Given the description of an element on the screen output the (x, y) to click on. 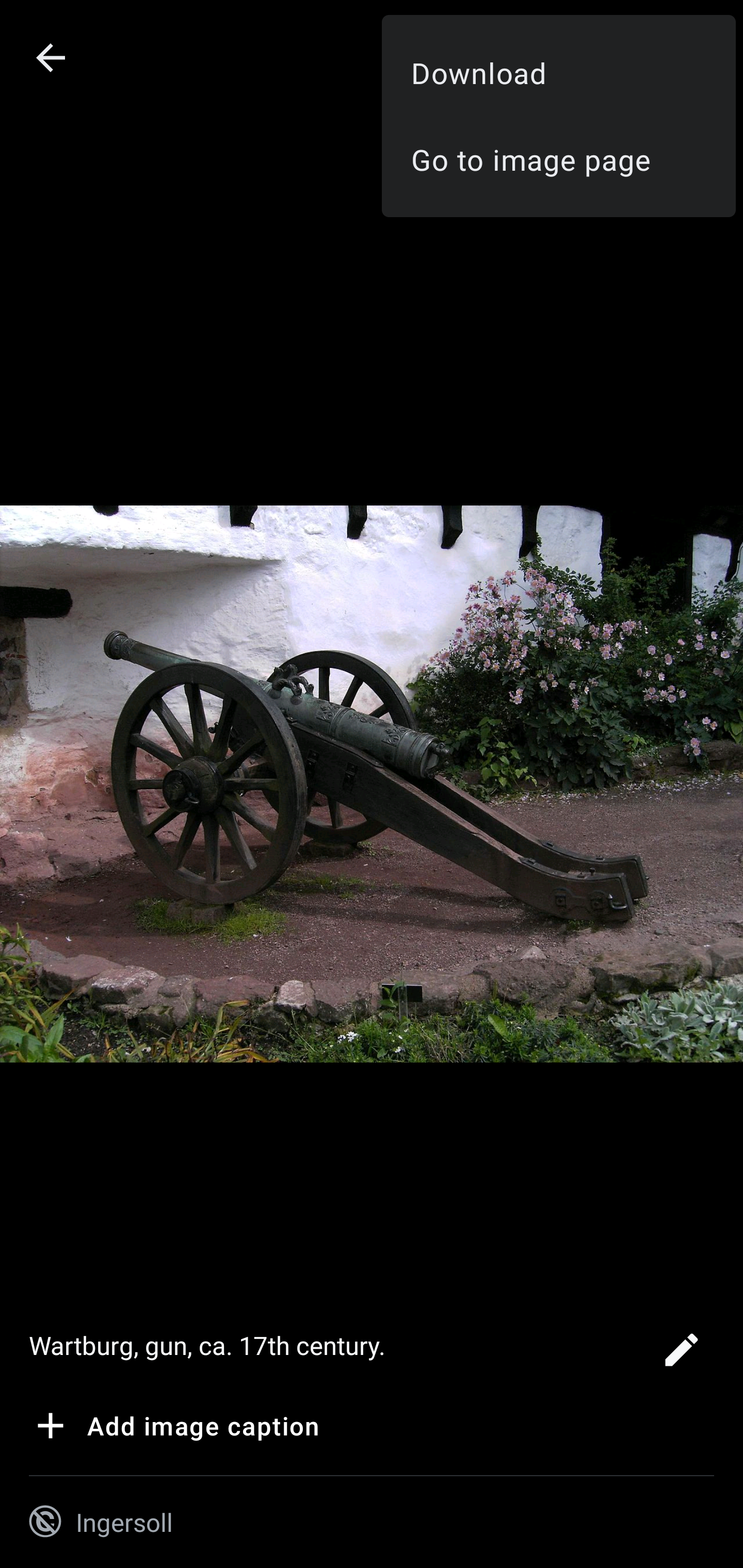
Download (558, 72)
Go to image page (558, 159)
